Given the description of an element on the screen output the (x, y) to click on. 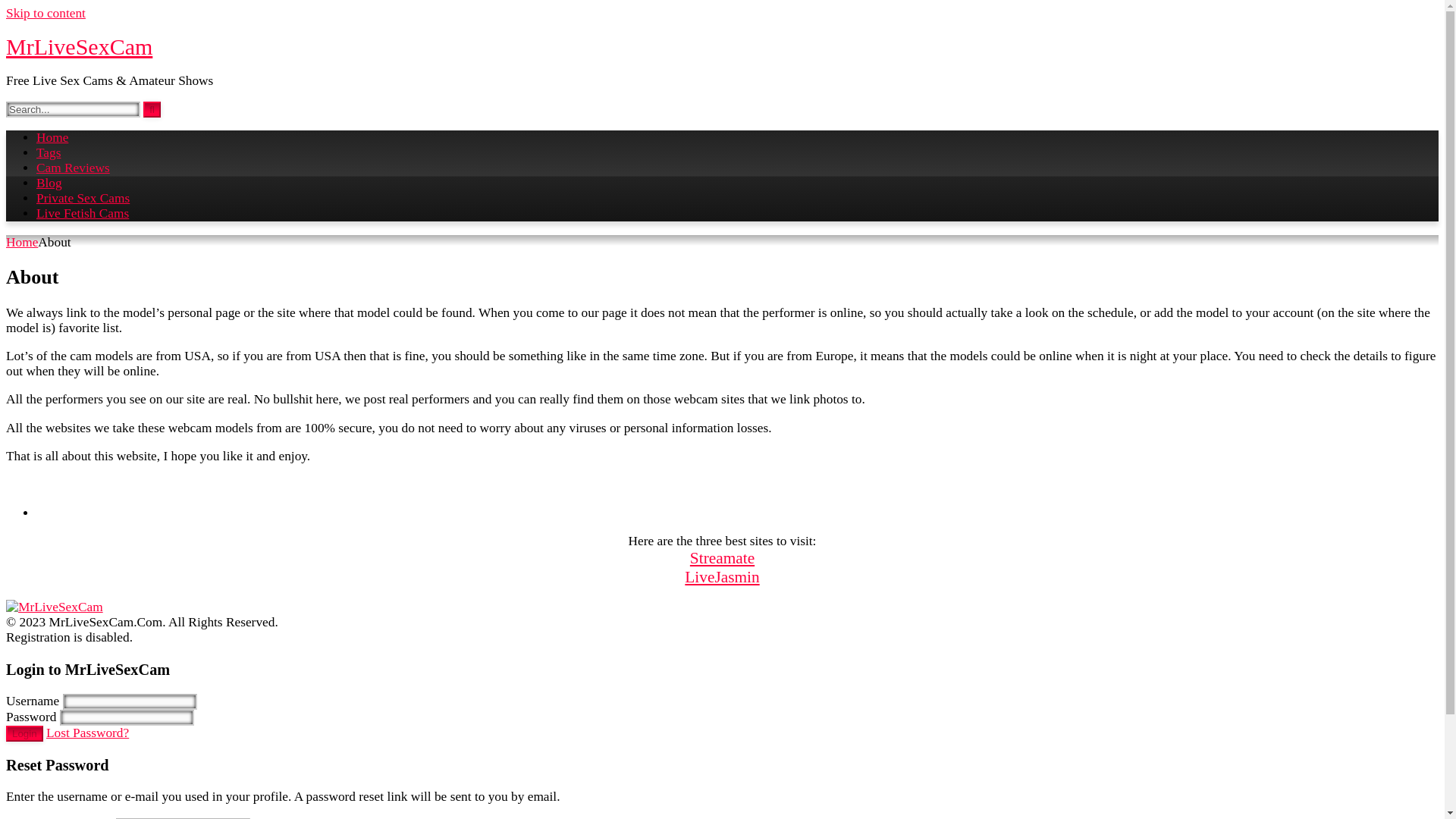
Home (21, 242)
Blog (49, 183)
Live Fetish Cams (82, 213)
Private Sex Cams (82, 197)
Login (24, 733)
Cam Reviews (73, 167)
Lost Password? (87, 732)
Search... (72, 109)
Skip to content (45, 12)
Streamate (722, 557)
